Given the description of an element on the screen output the (x, y) to click on. 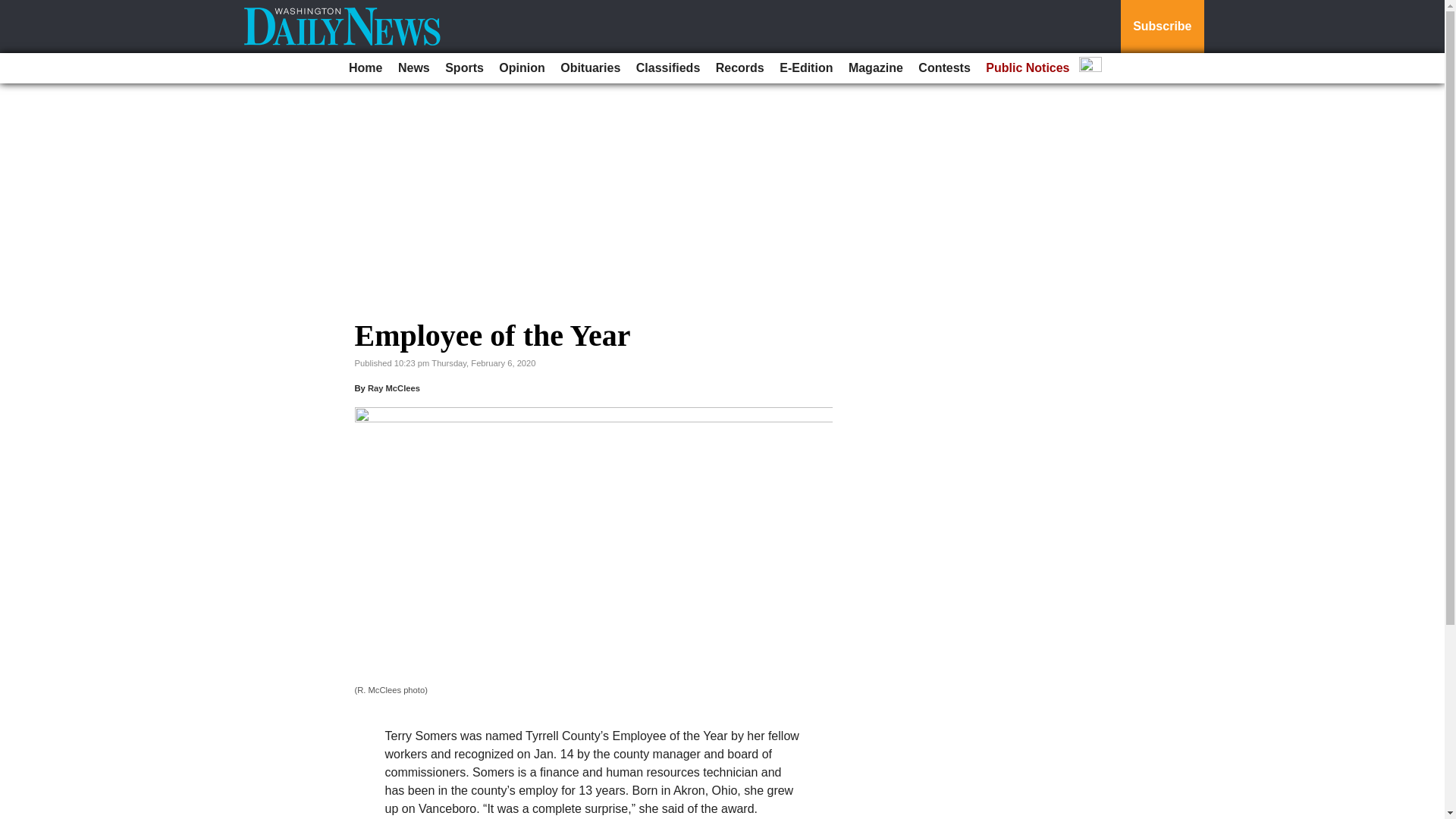
Public Notices (1027, 68)
Opinion (521, 68)
Sports (464, 68)
Classifieds (668, 68)
Obituaries (590, 68)
E-Edition (805, 68)
Go (13, 9)
Contests (943, 68)
Subscribe (1162, 26)
Ray McClees (394, 388)
